Given the description of an element on the screen output the (x, y) to click on. 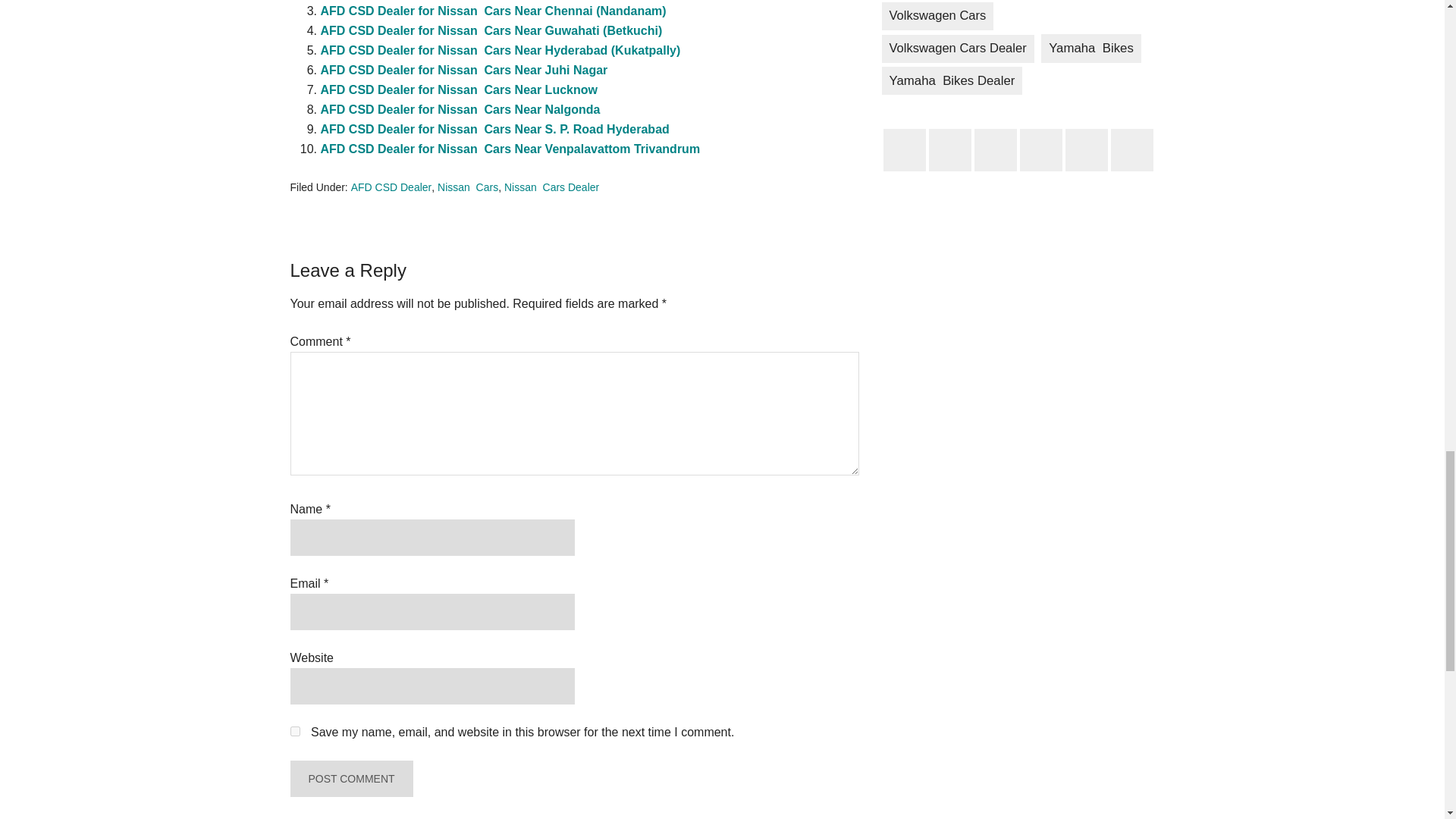
Post Comment (350, 778)
yes (294, 731)
